Given the description of an element on the screen output the (x, y) to click on. 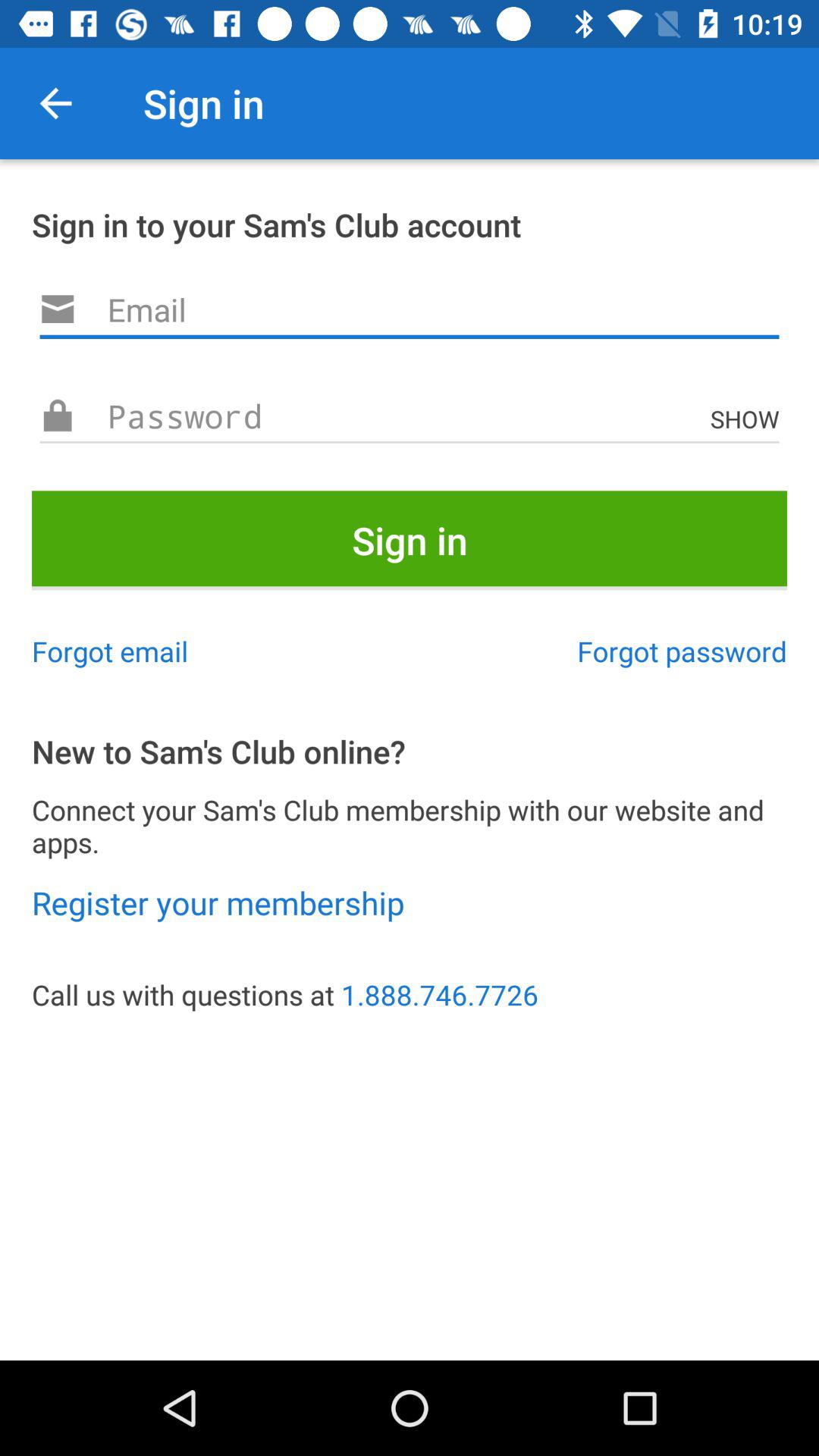
choose item to the left of forgot password (109, 650)
